Given the description of an element on the screen output the (x, y) to click on. 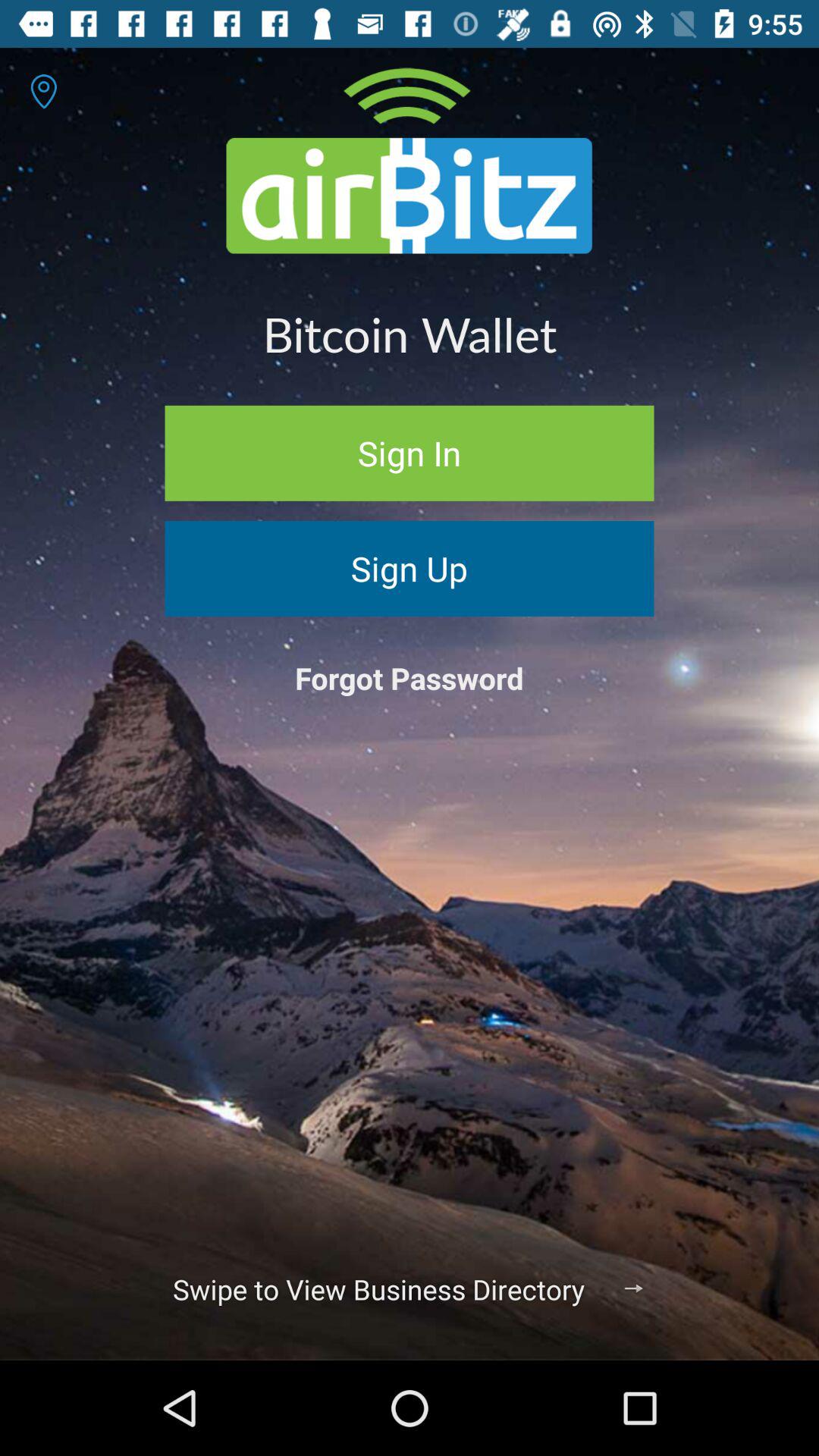
choose the item below bitcoin wallet item (409, 453)
